Given the description of an element on the screen output the (x, y) to click on. 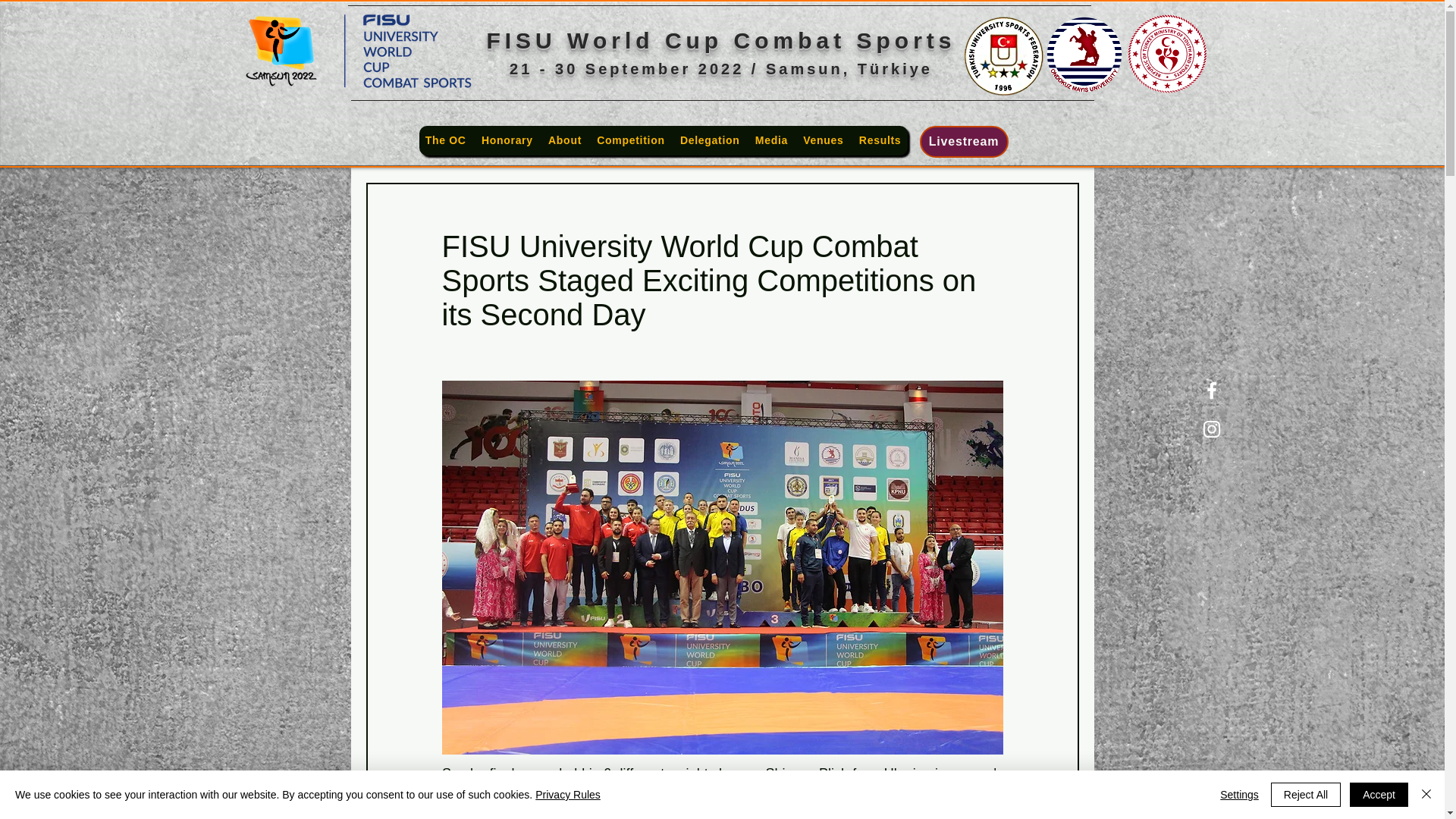
The OC (445, 140)
Honorary (507, 140)
Livestream (962, 142)
